Given the description of an element on the screen output the (x, y) to click on. 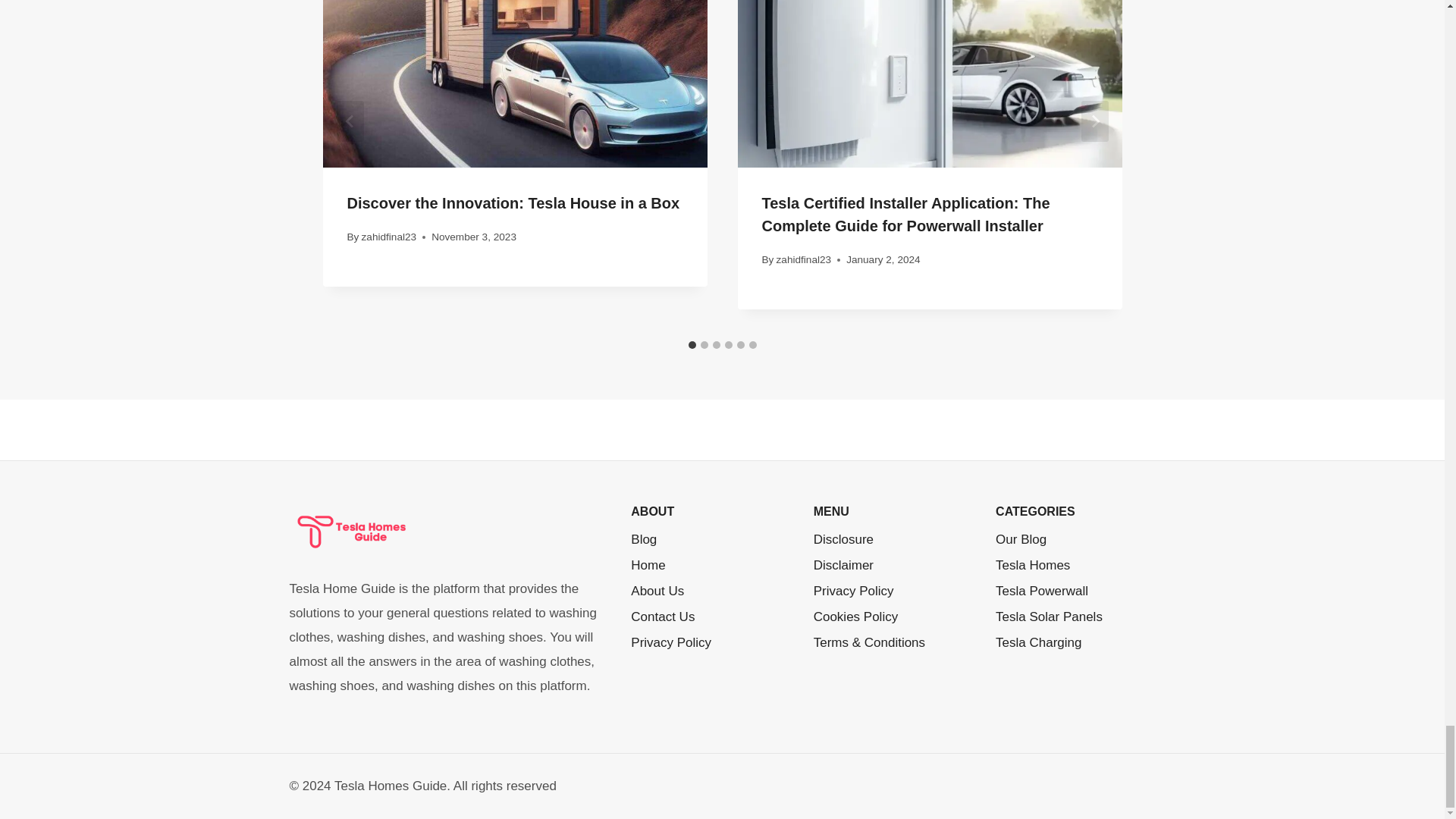
Discover the Innovation: Tesla House in a Box 4 (515, 83)
